Given the description of an element on the screen output the (x, y) to click on. 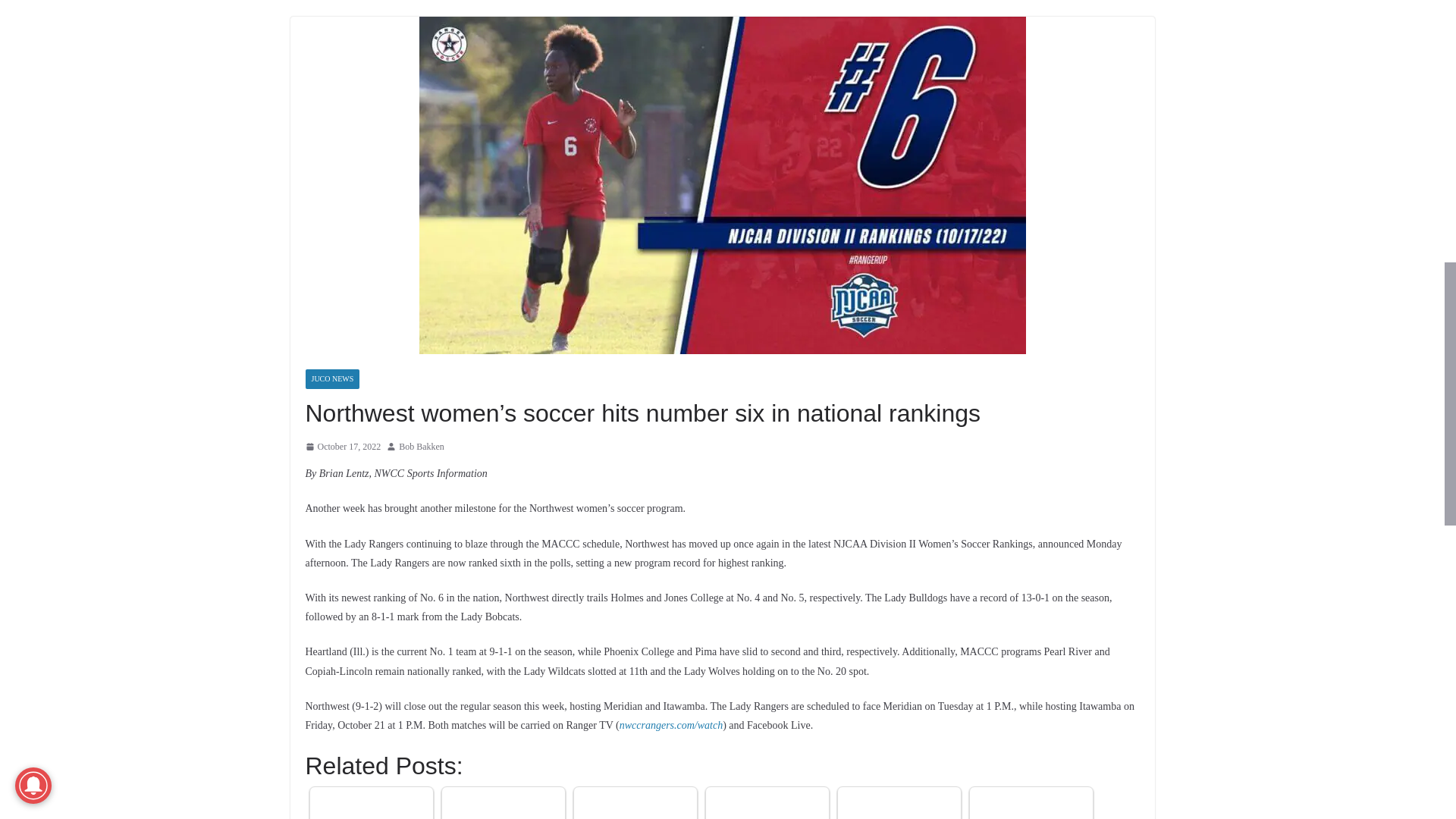
Bob Bakken (421, 446)
Dickerson sets career strikeout record in Northwest sweep (767, 805)
7:23 pm (342, 446)
Football coach Mike Leach passes away at age 61 (634, 805)
Northwest to host Iowa Western in NJCAA semifinals (502, 805)
